Given the description of an element on the screen output the (x, y) to click on. 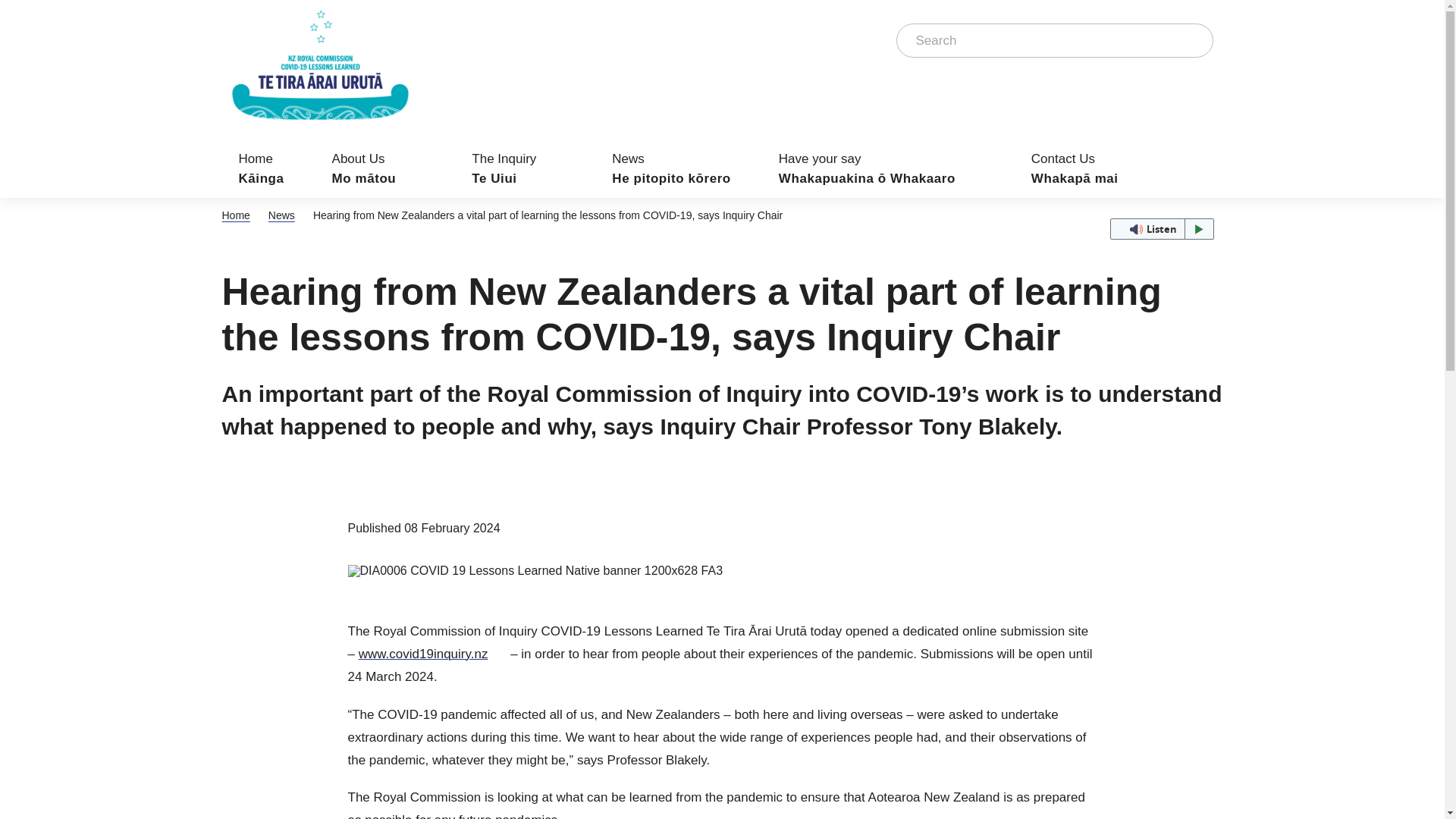
www.covid19inquiry.nz (432, 653)
News (517, 168)
Home (281, 215)
Listen to this page using ReadSpeaker webReader (234, 215)
Search (1160, 228)
Listen (1192, 40)
